Given the description of an element on the screen output the (x, y) to click on. 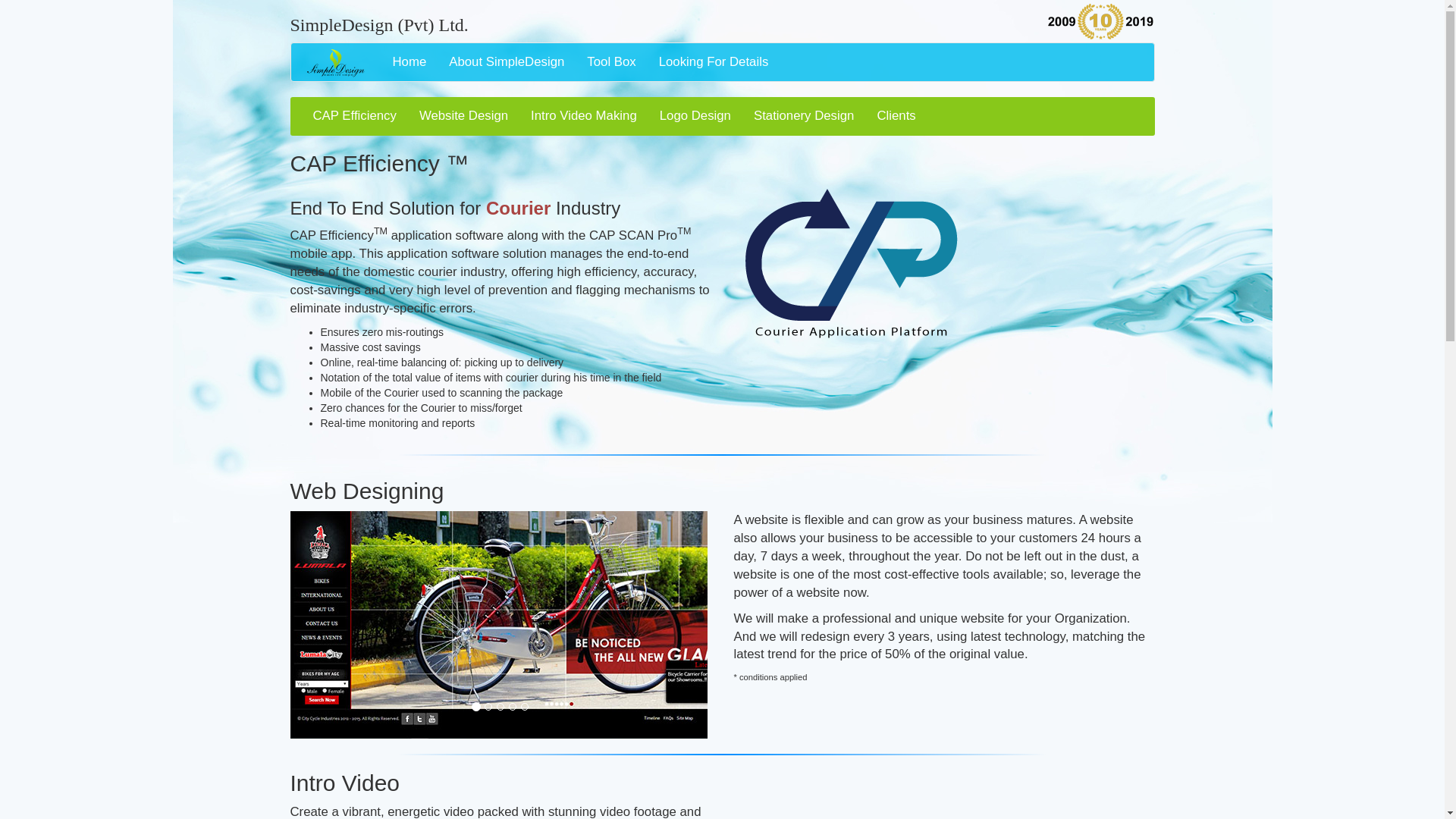
Looking For Details (713, 62)
Tool Box (610, 62)
About SimpleDesign (506, 62)
Intro Video Making (583, 116)
Home (409, 62)
Stationery Design (803, 116)
CAP Efficiency (354, 116)
Website Design (463, 116)
Logo Design (694, 116)
Clients (895, 116)
